Given the description of an element on the screen output the (x, y) to click on. 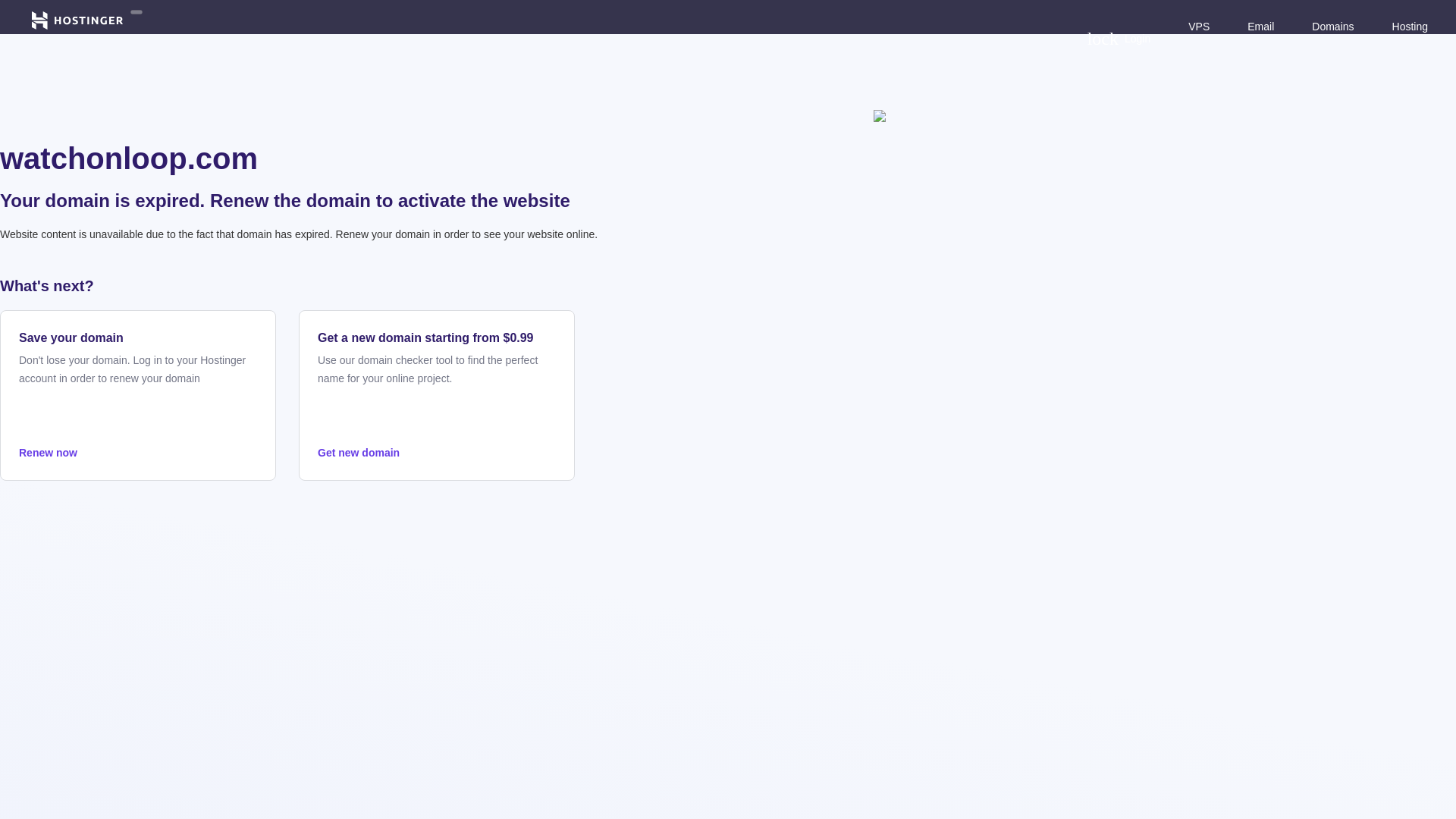
Hosting (1410, 25)
Domains (1331, 25)
Get new domain (436, 452)
Renew now (1118, 38)
